Given the description of an element on the screen output the (x, y) to click on. 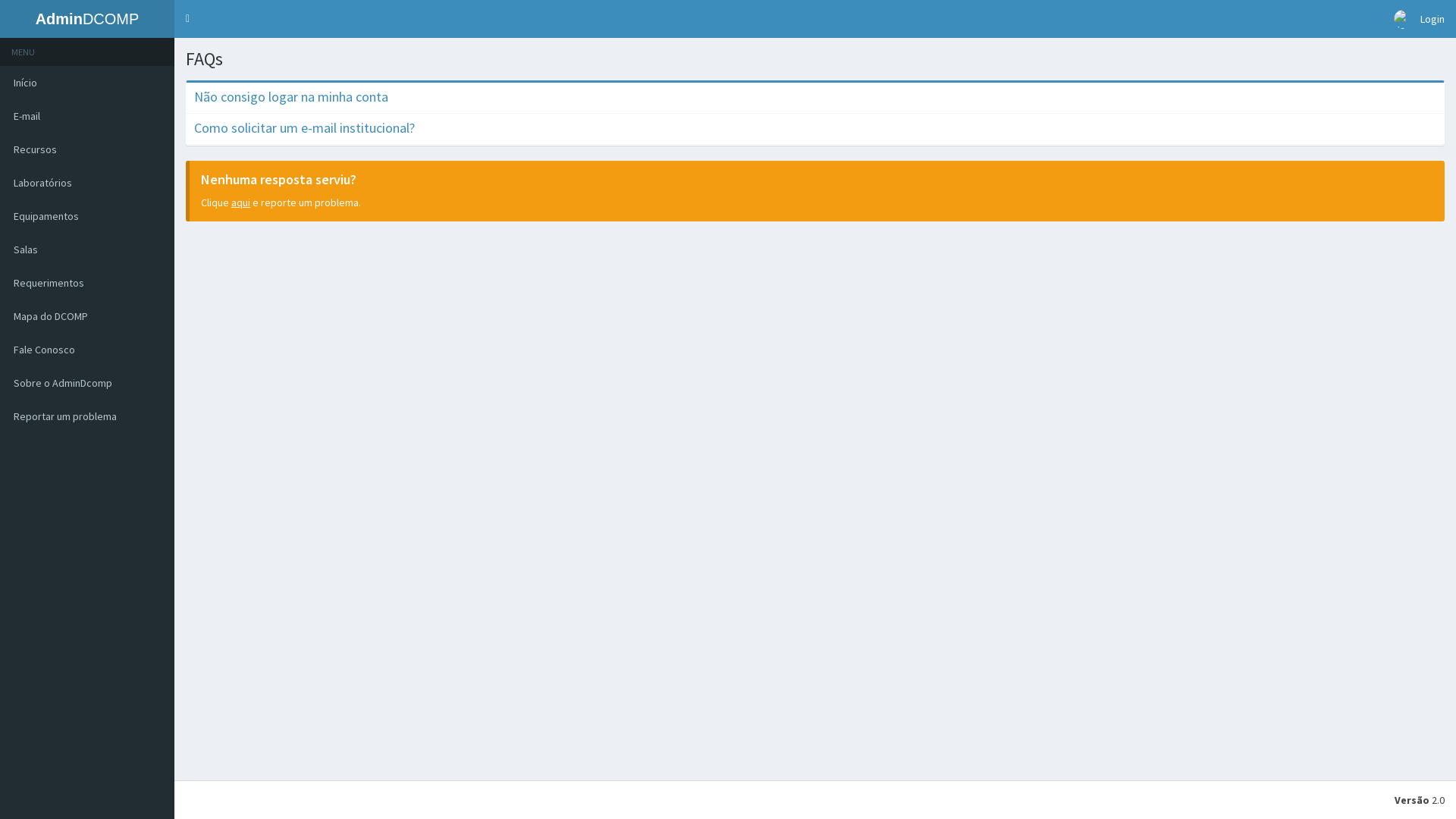
AdminDCOMP Element type: text (87, 18)
Requerimentos Element type: text (87, 282)
Reportar um problema Element type: text (87, 416)
Sobre o AdminDcomp Element type: text (87, 382)
Toggle navigation Element type: text (187, 18)
Equipamentos Element type: text (87, 215)
Recursos Element type: text (87, 149)
Salas Element type: text (87, 249)
Como solicitar um e-mail institucional? Element type: text (304, 127)
Fale Conosco Element type: text (87, 349)
E-mail Element type: text (87, 115)
Mapa do DCOMP Element type: text (87, 315)
aqui Element type: text (240, 202)
